Given the description of an element on the screen output the (x, y) to click on. 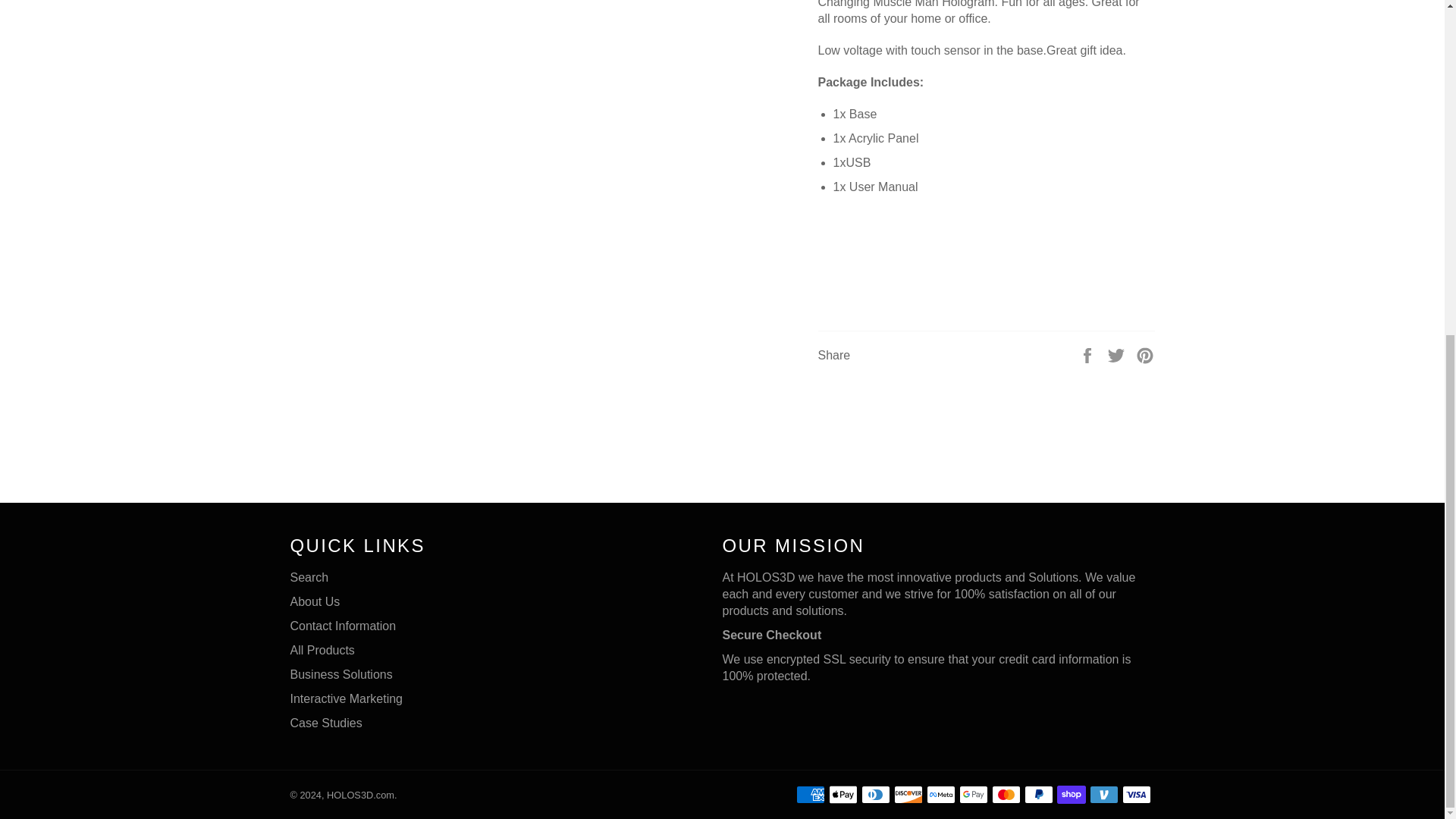
Search (309, 576)
Pin on Pinterest (1144, 354)
Share on Facebook (1088, 354)
Share on Facebook (1088, 354)
Tweet on Twitter (1117, 354)
About Us (314, 601)
Pin on Pinterest (1144, 354)
Tweet on Twitter (1117, 354)
Contact Information (342, 625)
All Products (321, 649)
